Given the description of an element on the screen output the (x, y) to click on. 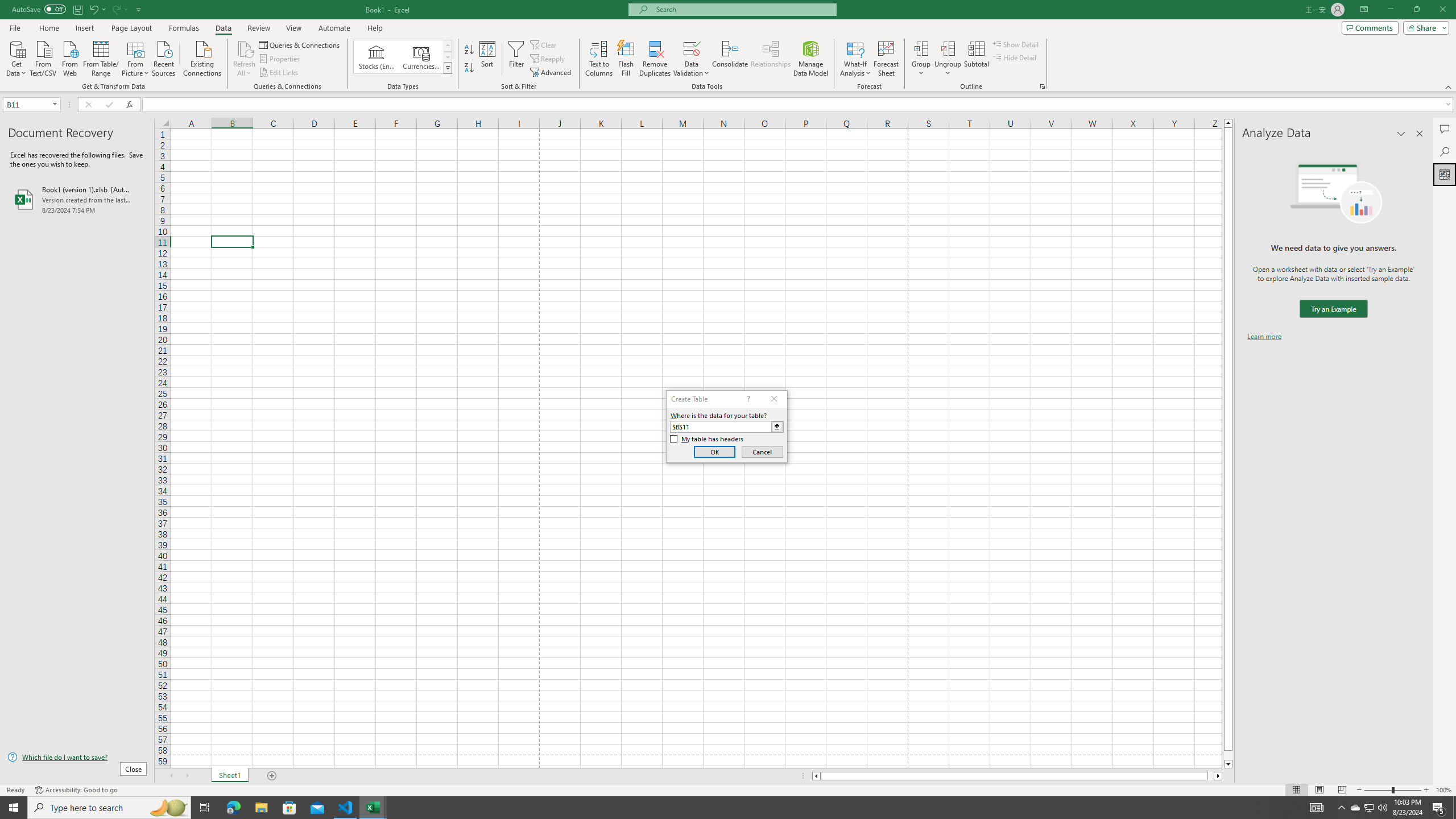
Recent Sources (163, 57)
Refresh All (244, 48)
Row Down (448, 56)
Page Break Preview (1342, 790)
Subtotal (976, 58)
Edit Links (279, 72)
Data (223, 28)
Microsoft search (742, 9)
Close pane (1419, 133)
Page right (1211, 775)
What-If Analysis (855, 58)
Sheet1 (229, 775)
